Given the description of an element on the screen output the (x, y) to click on. 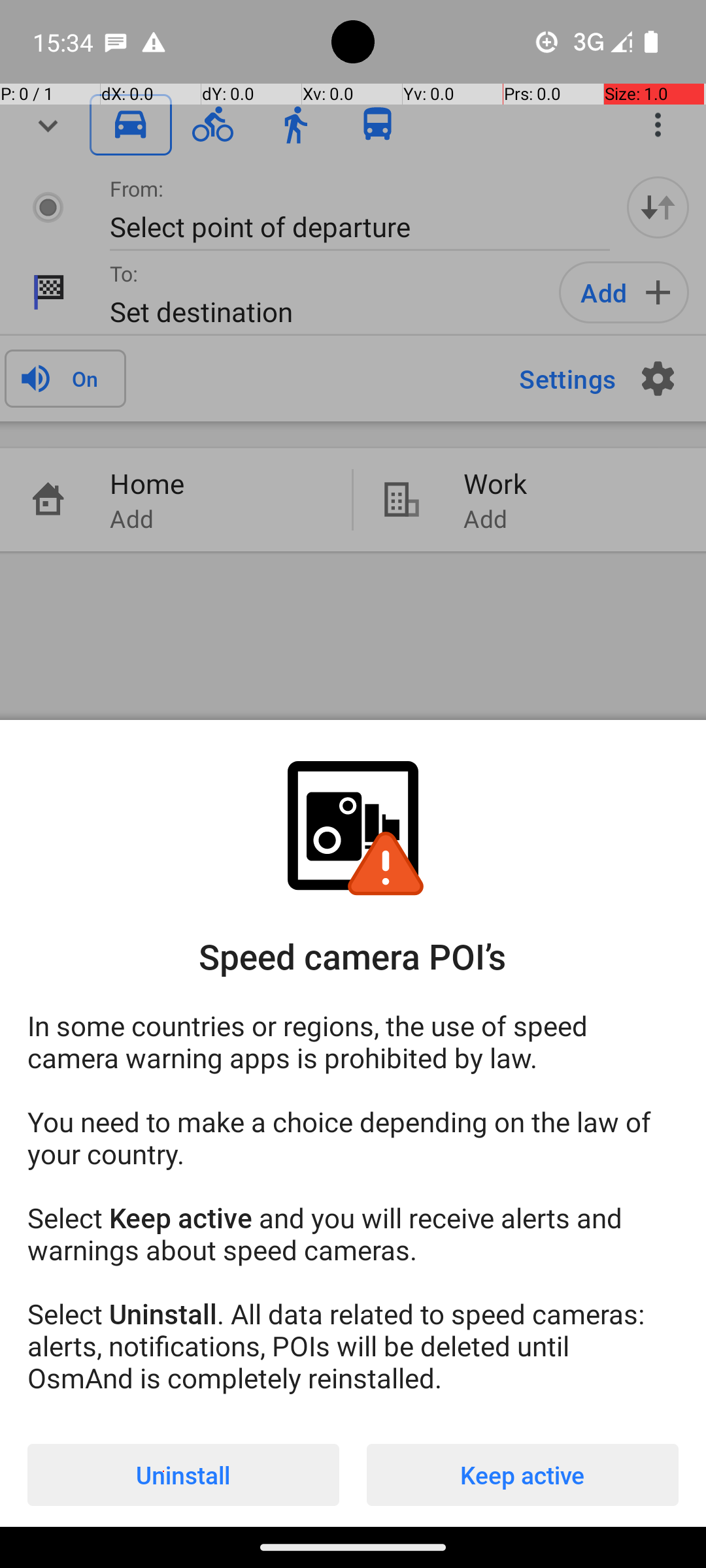
Close the dialog Element type: android.view.View (353, 388)
